Given the description of an element on the screen output the (x, y) to click on. 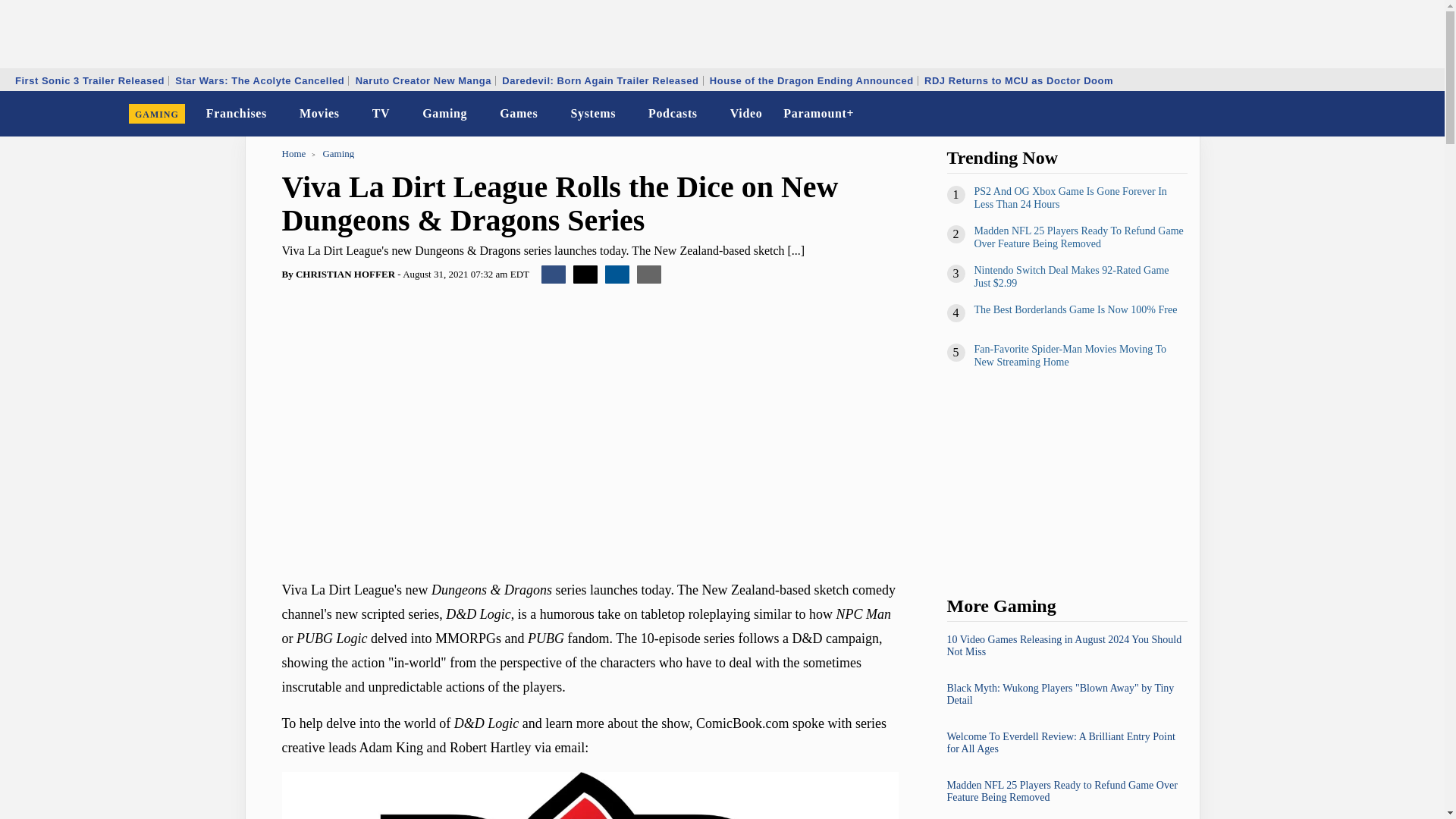
Daredevil: Born Again Trailer Released (599, 80)
RDJ Returns to MCU as Doctor Doom (1018, 80)
Search (1422, 114)
Star Wars: The Acolyte Cancelled (259, 80)
Gaming (444, 113)
YouTube video player (494, 421)
Dark Mode (1394, 113)
Naruto Creator New Manga (423, 80)
DnD Logic Logo (590, 795)
GAMING (157, 113)
